Given the description of an element on the screen output the (x, y) to click on. 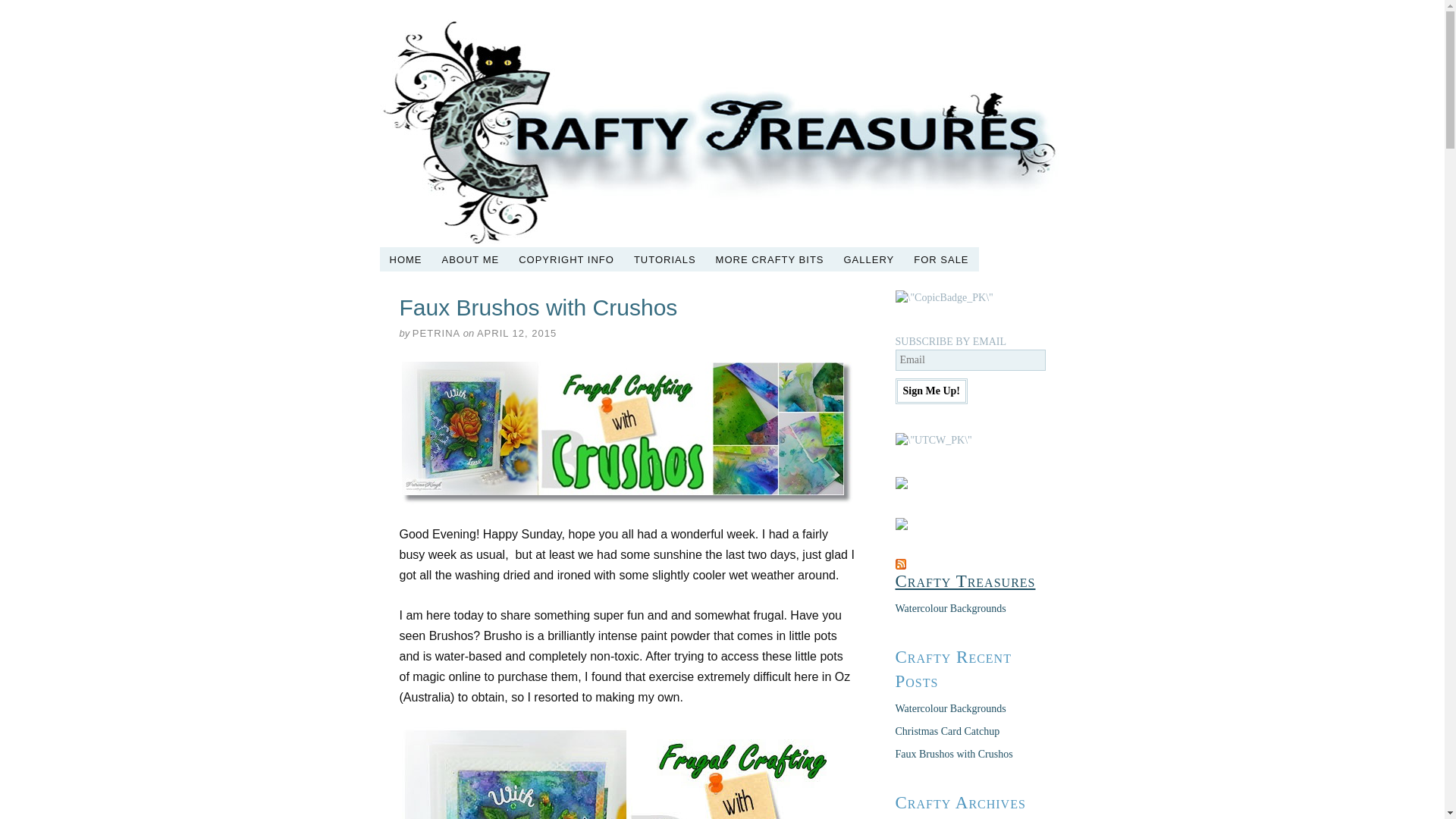
MORE CRAFTY BITS Element type: text (770, 259)
Faux Brushos with Crushos Element type: text (953, 753)
click to return home Element type: hover (720, 133)
Crafty Treasures Element type: text (964, 580)
Christmas Card Catchup Element type: text (946, 731)
Watercolour Backgrounds Element type: text (949, 708)
Watercolour Backgrounds Element type: text (949, 608)
TUTORIALS Element type: text (665, 259)
GALLERY Element type: text (869, 259)
ABOUT ME Element type: text (470, 259)
COPYRIGHT INFO Element type: text (566, 259)
Sign Me Up! Element type: text (930, 391)
HOME Element type: text (405, 259)
FOR SALE Element type: text (940, 259)
